Given the description of an element on the screen output the (x, y) to click on. 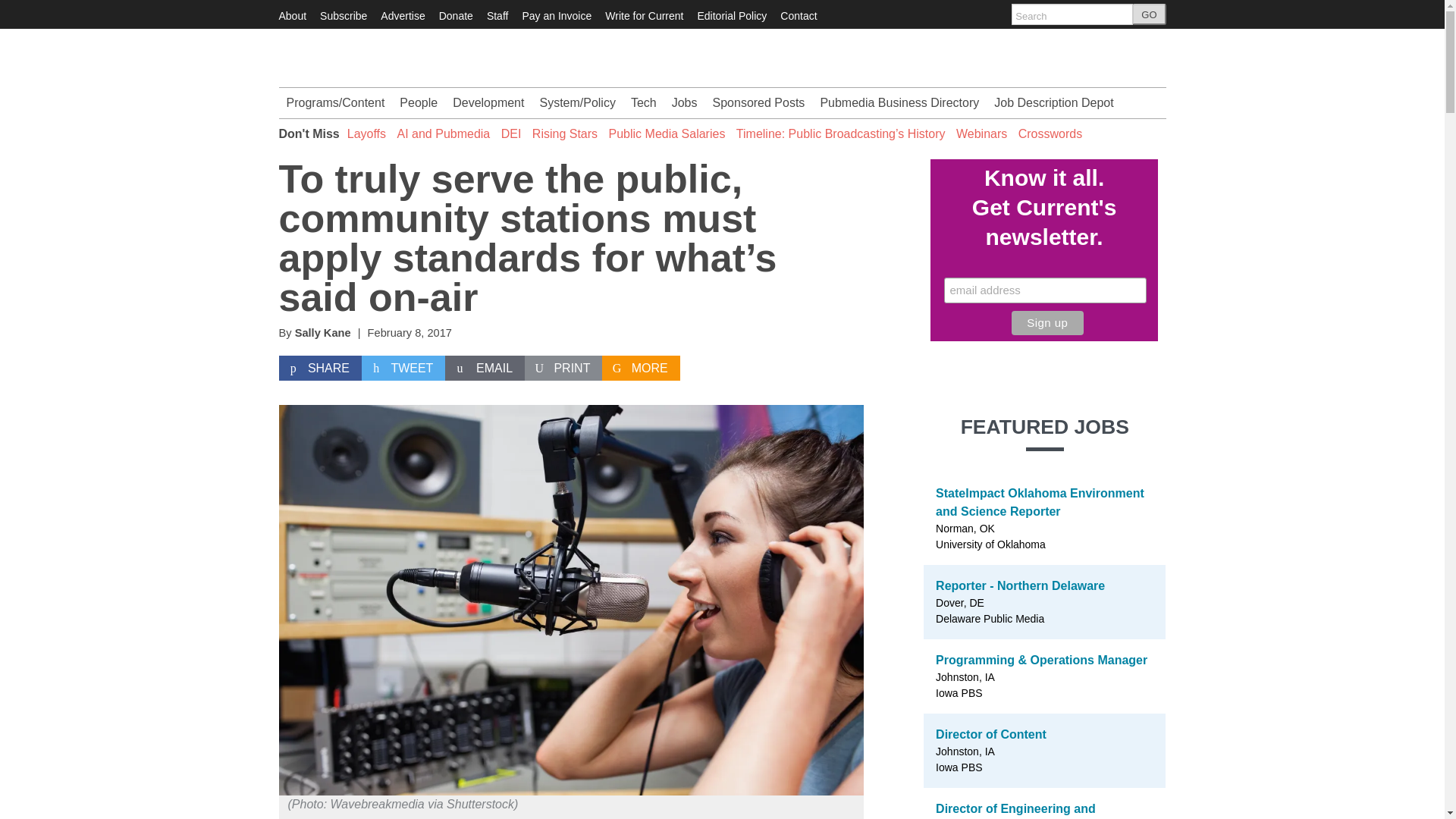
Sign up (1047, 322)
About (293, 15)
People (418, 102)
GO (1149, 14)
Editorial Policy (732, 15)
Advertise (402, 15)
Print this article (563, 368)
Staff (497, 15)
Donate (456, 15)
Pay an Invoice (556, 15)
Read All Posts By Sally Kane (322, 332)
Development (488, 102)
Write for Current (643, 15)
Subscribe (343, 15)
Contact (798, 15)
